Given the description of an element on the screen output the (x, y) to click on. 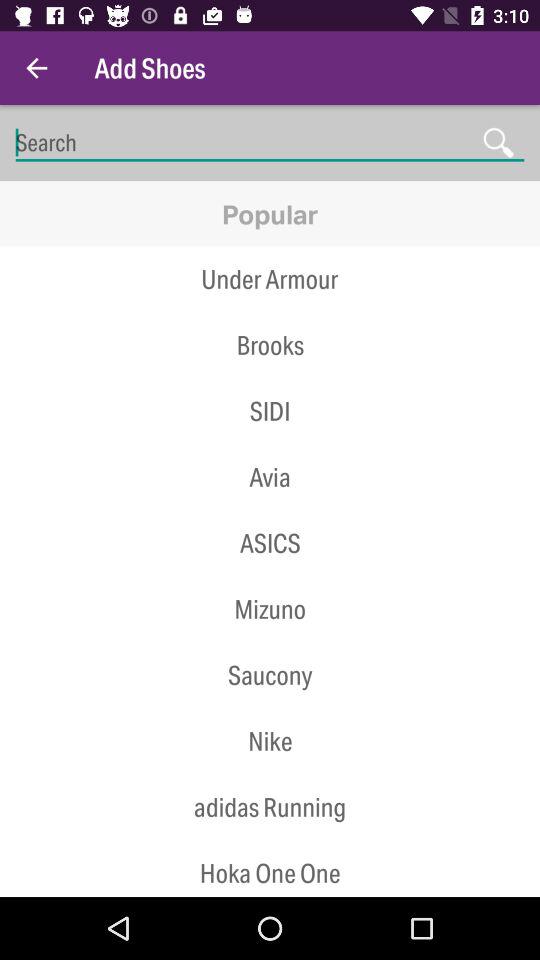
search show brands (269, 142)
